Given the description of an element on the screen output the (x, y) to click on. 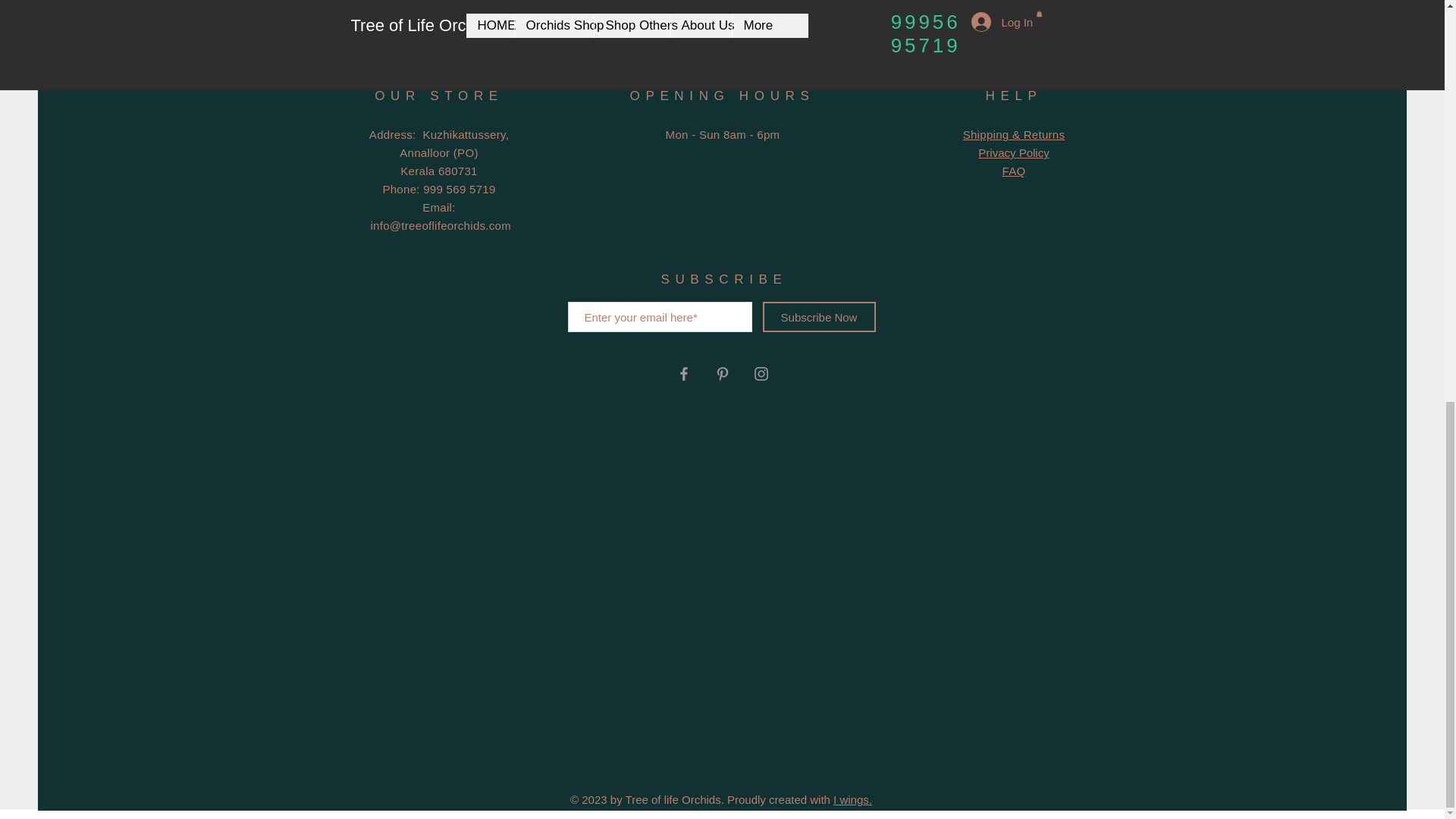
Mon - Sun 8am - 6pm (722, 133)
Subscribe Now (819, 317)
Privacy Policy (1013, 152)
FAQ (1014, 170)
